Given the description of an element on the screen output the (x, y) to click on. 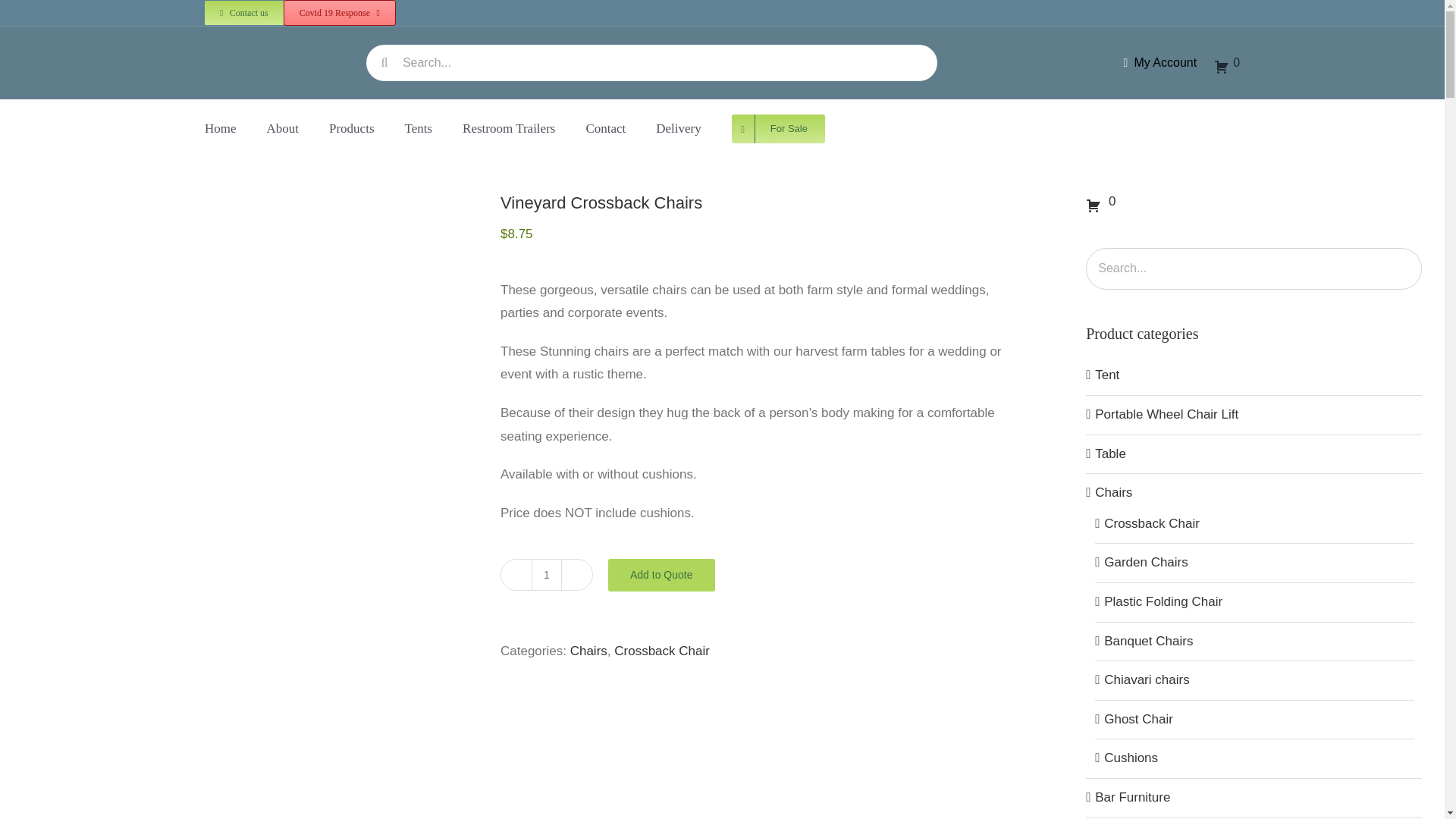
Contact us (244, 12)
0 (1227, 62)
Add to Quote (661, 574)
Log In (1214, 238)
Covid 19 Response (339, 12)
For Sale (778, 128)
Chairs (588, 650)
View Quote (1227, 62)
Contact (605, 129)
About (282, 129)
Delivery (678, 129)
1 (546, 574)
My Account (1158, 62)
Products (351, 129)
Restroom Trailers (508, 129)
